Given the description of an element on the screen output the (x, y) to click on. 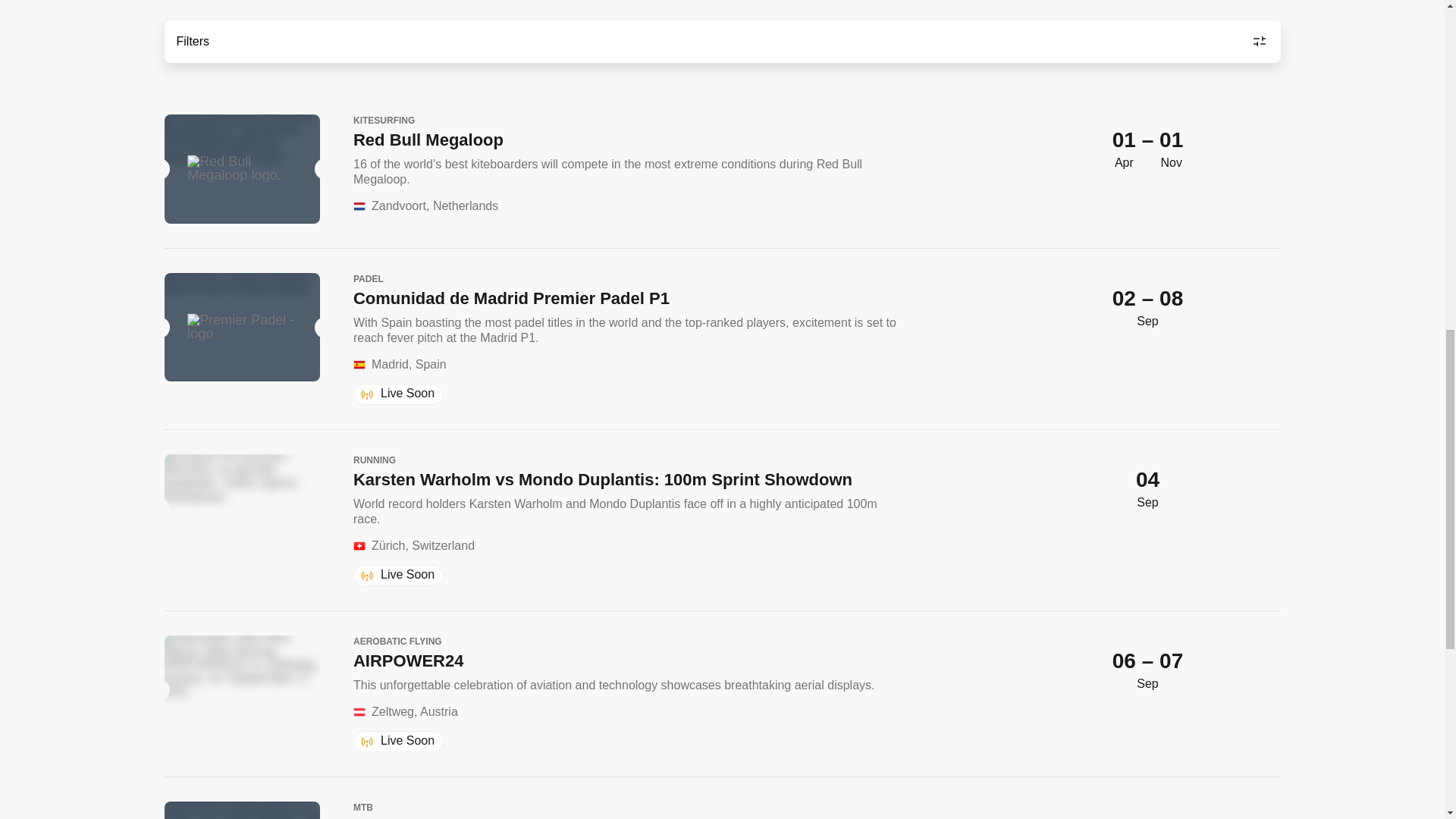
Karsten Warholm vs Mondo Duplantis: 100m Sprint Showdown (241, 508)
Filters (721, 41)
Spain (359, 364)
Netherlands (359, 205)
Red Bull Megaloop in Zandvoort  (241, 168)
Austria (359, 711)
Max Manov (241, 689)
Premier Padel's Madrid stop is real homecoming (241, 327)
Switzerland (359, 545)
